Given the description of an element on the screen output the (x, y) to click on. 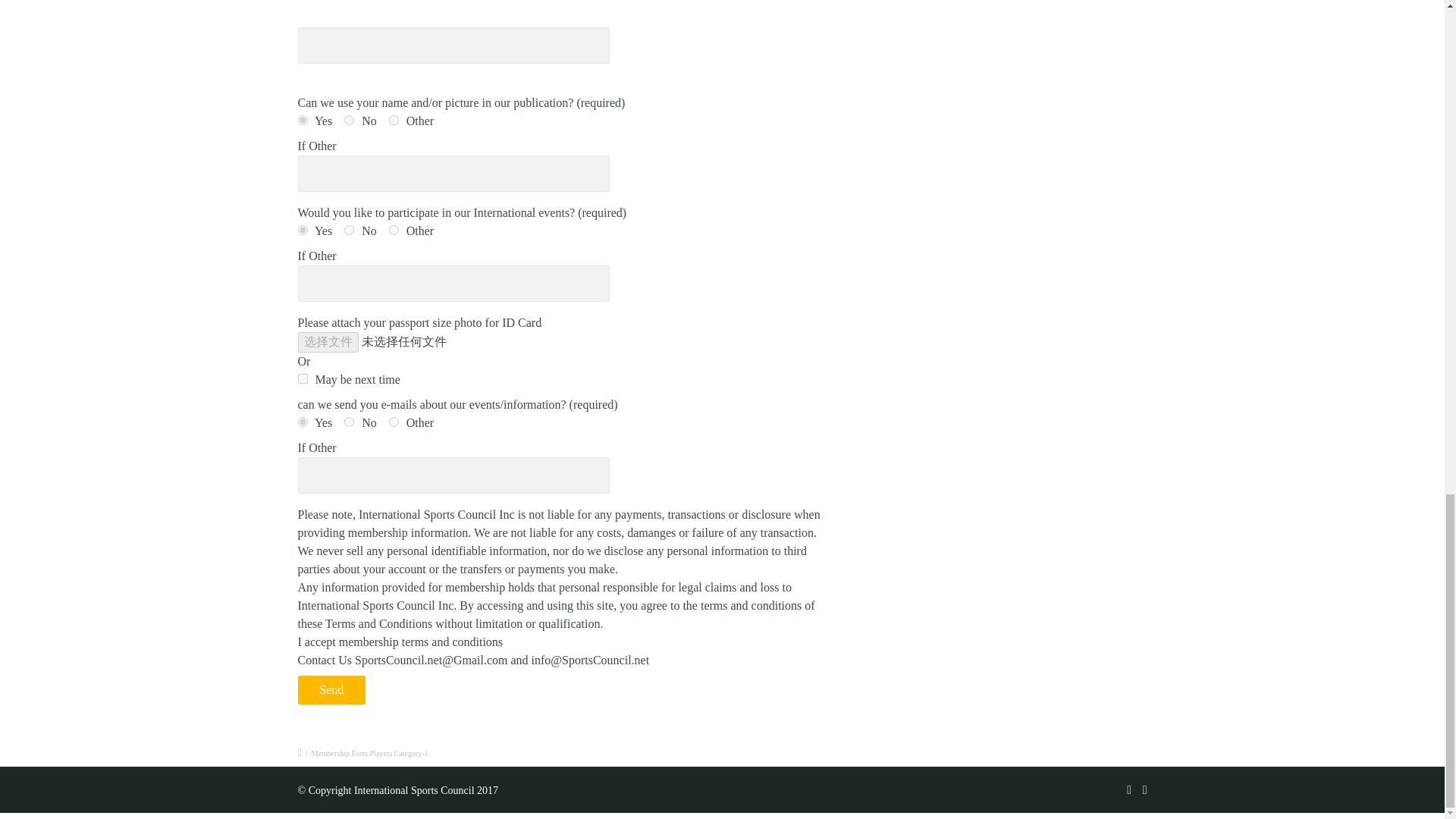
Yes (302, 230)
Yes (302, 120)
Other (393, 120)
No (348, 120)
